Given the description of an element on the screen output the (x, y) to click on. 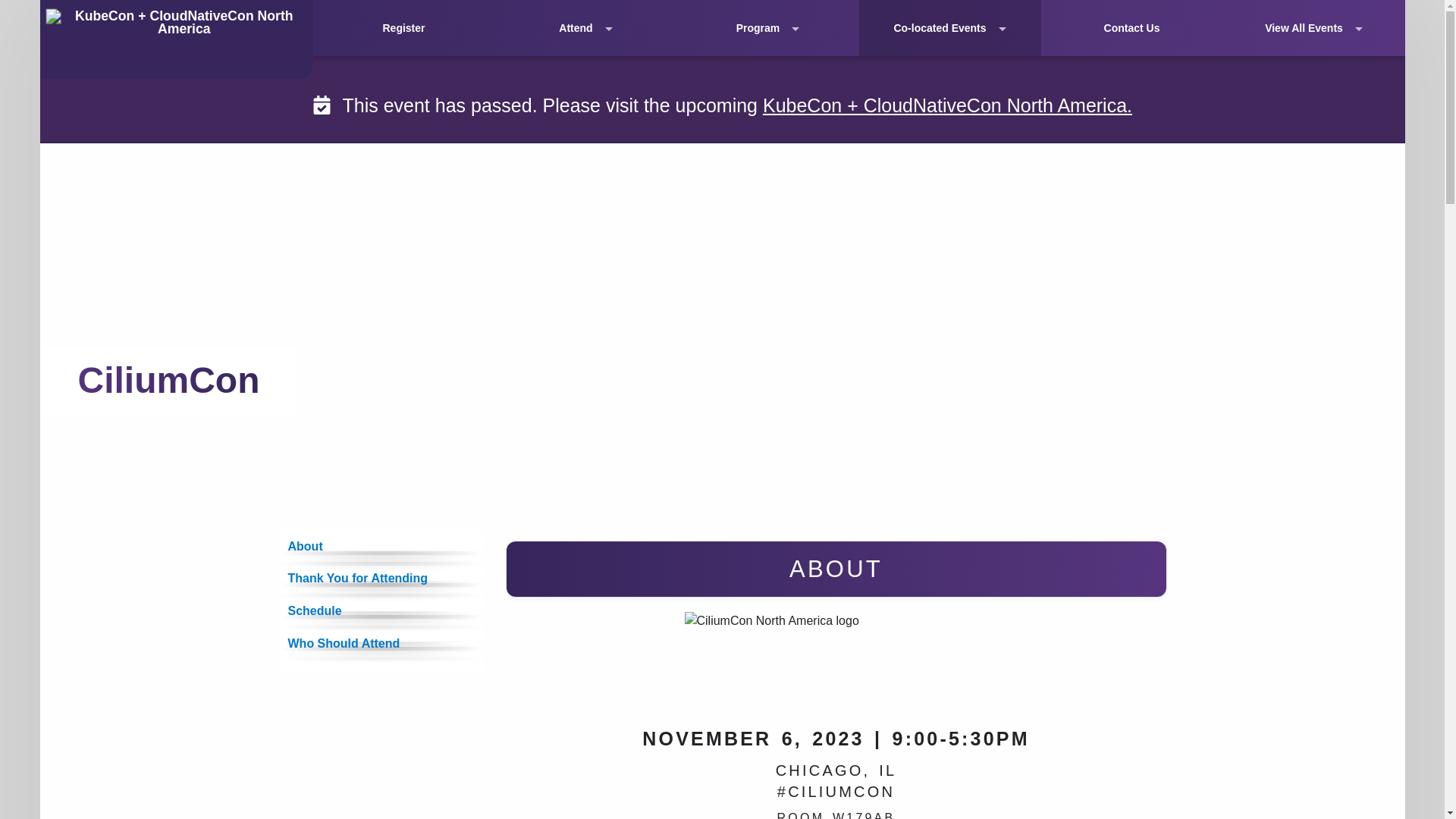
Thank You for Attending (381, 578)
Skip to content (16, 10)
Contact Us (1132, 28)
Program (768, 28)
Who Should Attend (381, 644)
Schedule (381, 611)
Co-located Events (950, 28)
Register (404, 28)
View All Events (1314, 28)
About (381, 546)
Attend (586, 28)
